Given the description of an element on the screen output the (x, y) to click on. 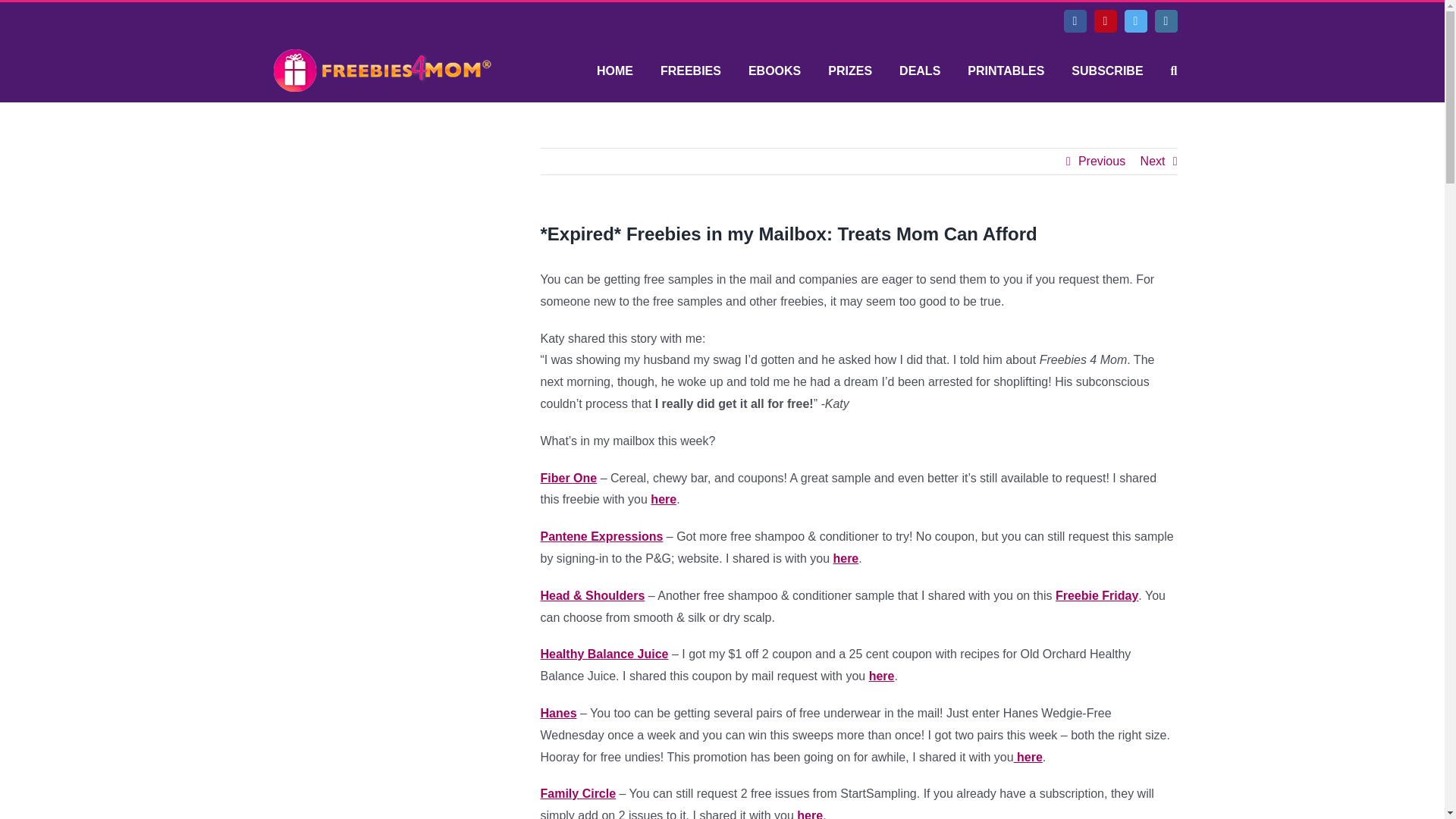
Instagram (1165, 20)
Instagram (1165, 20)
Twitter (1135, 20)
Pinterest (1104, 20)
PRINTABLES (1005, 70)
Facebook (1074, 20)
Pinterest (1104, 20)
FREEBIES (690, 70)
Facebook (1074, 20)
Twitter (1135, 20)
